Given the description of an element on the screen output the (x, y) to click on. 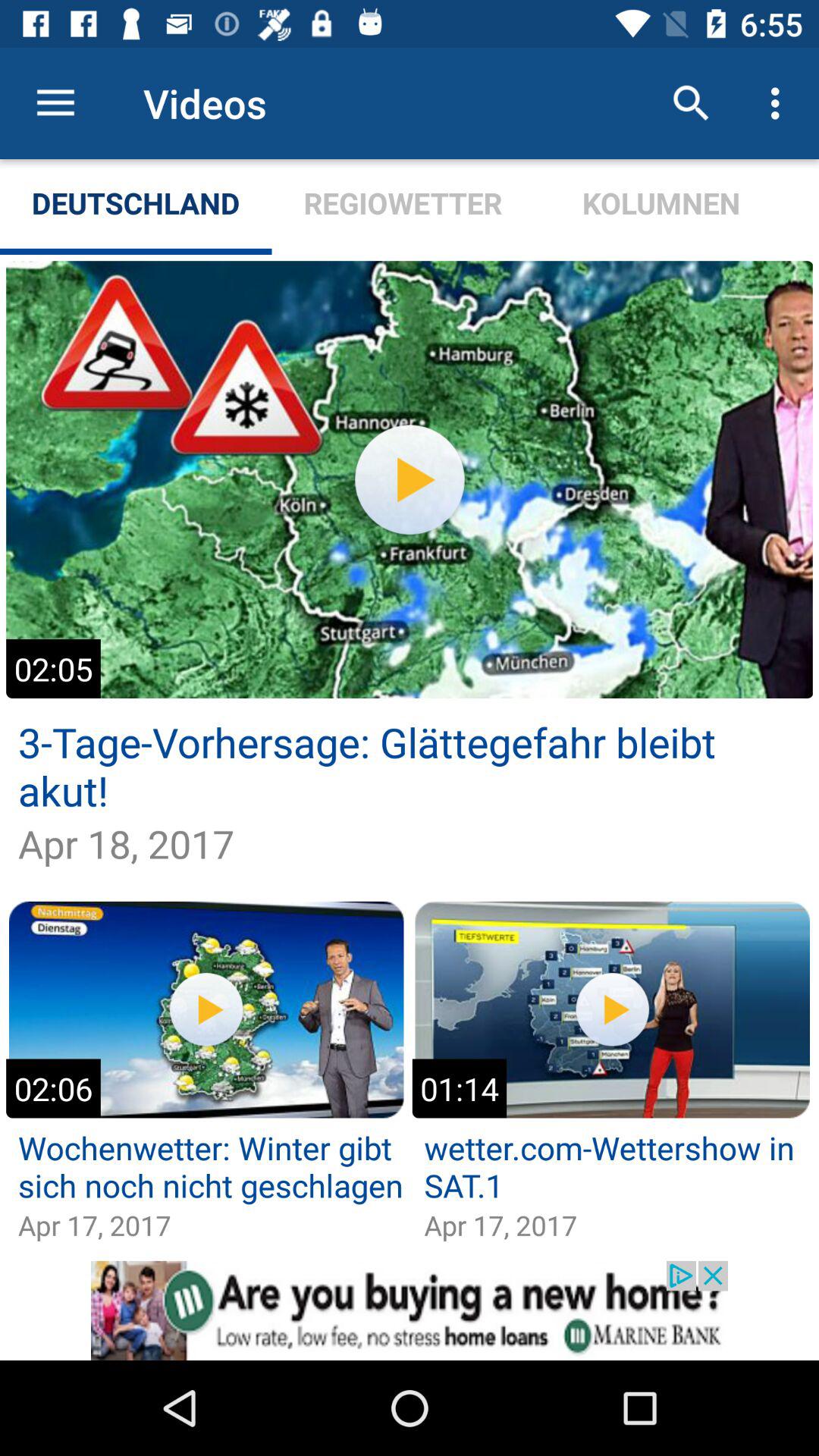
so the advertisement (409, 1310)
